Given the description of an element on the screen output the (x, y) to click on. 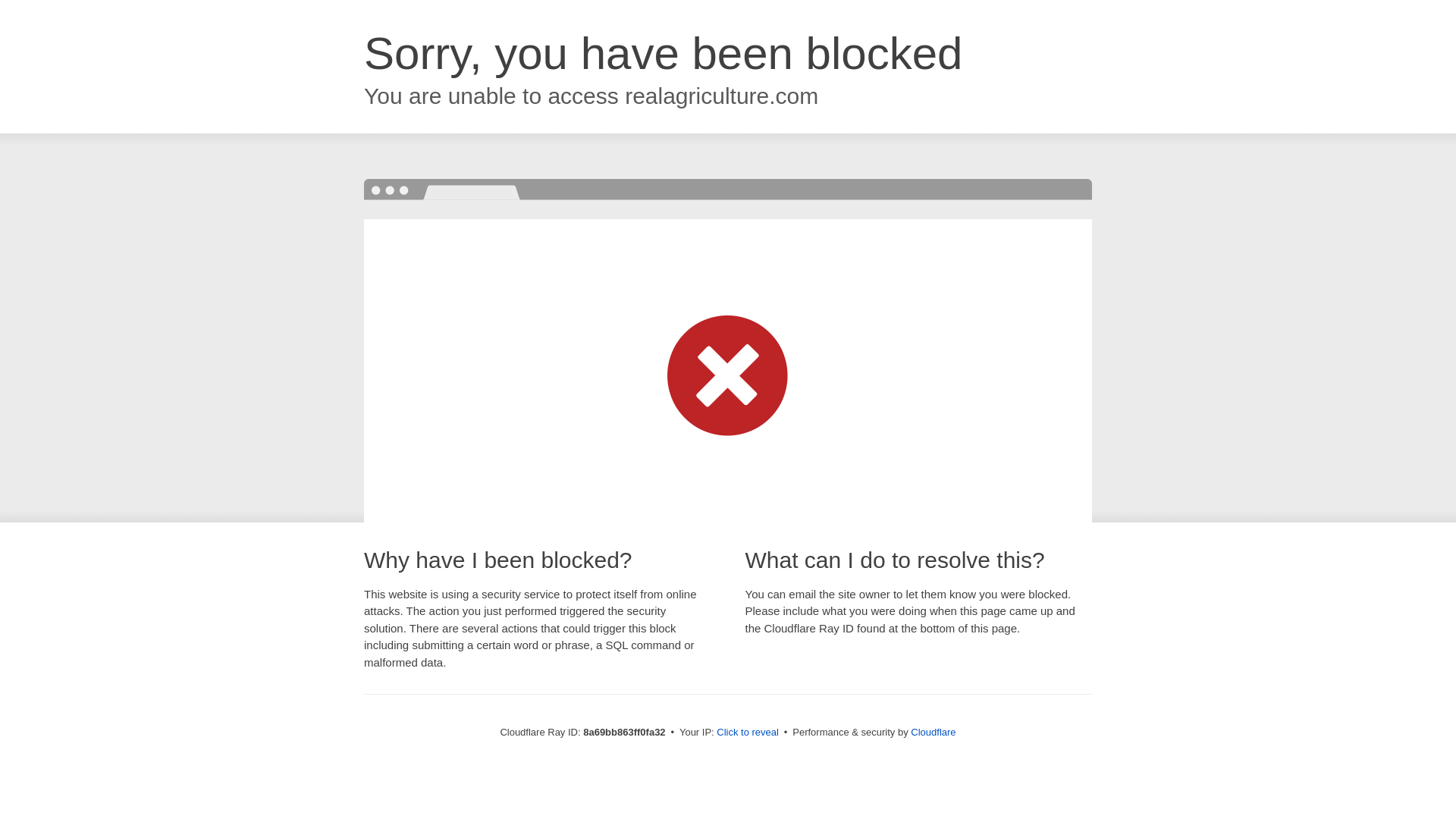
Click to reveal (747, 732)
Cloudflare (933, 731)
